Given the description of an element on the screen output the (x, y) to click on. 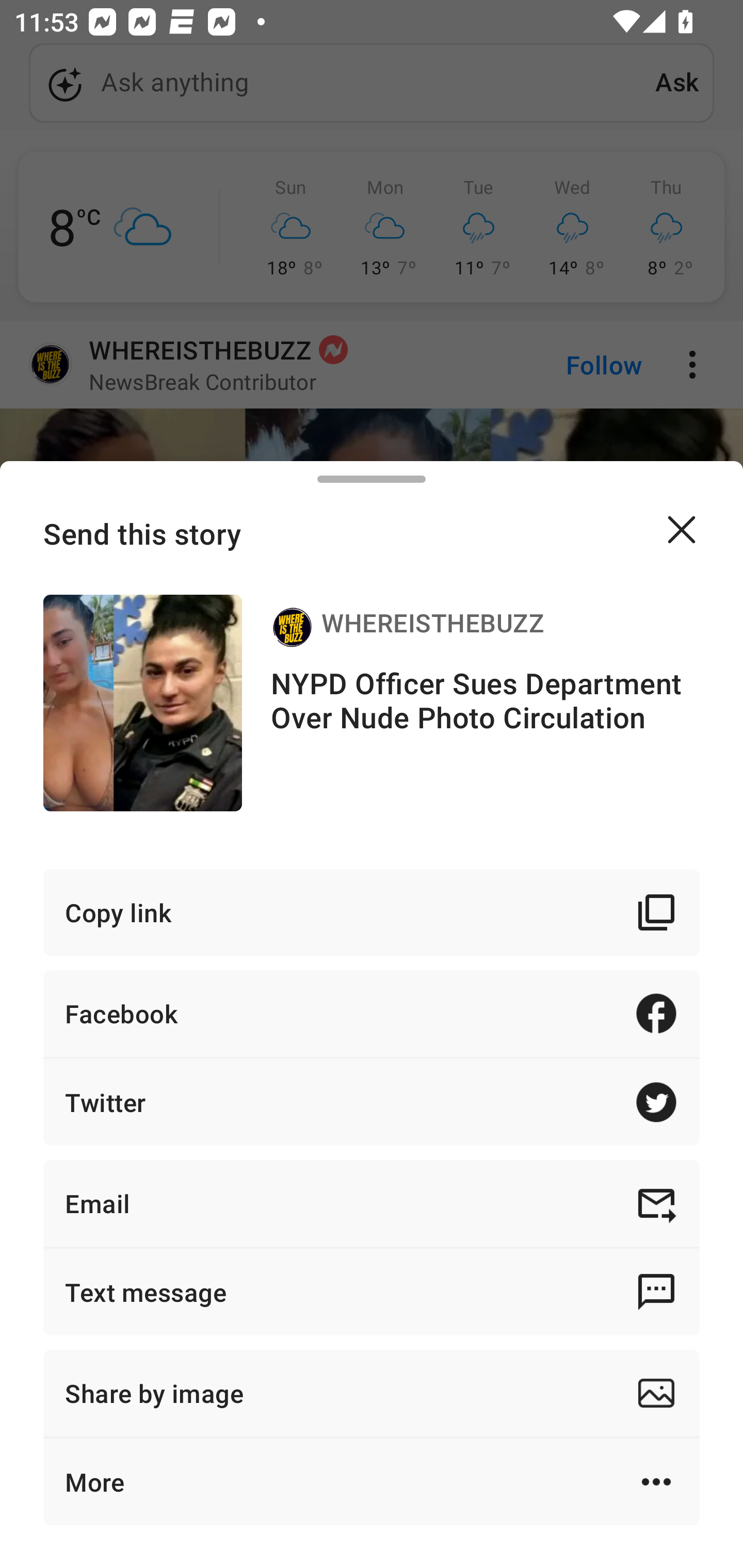
Copy link (371, 912)
Facebook (371, 1013)
Twitter (371, 1102)
Email (371, 1203)
Text message (371, 1291)
Share by image (371, 1393)
More (371, 1481)
